Given the description of an element on the screen output the (x, y) to click on. 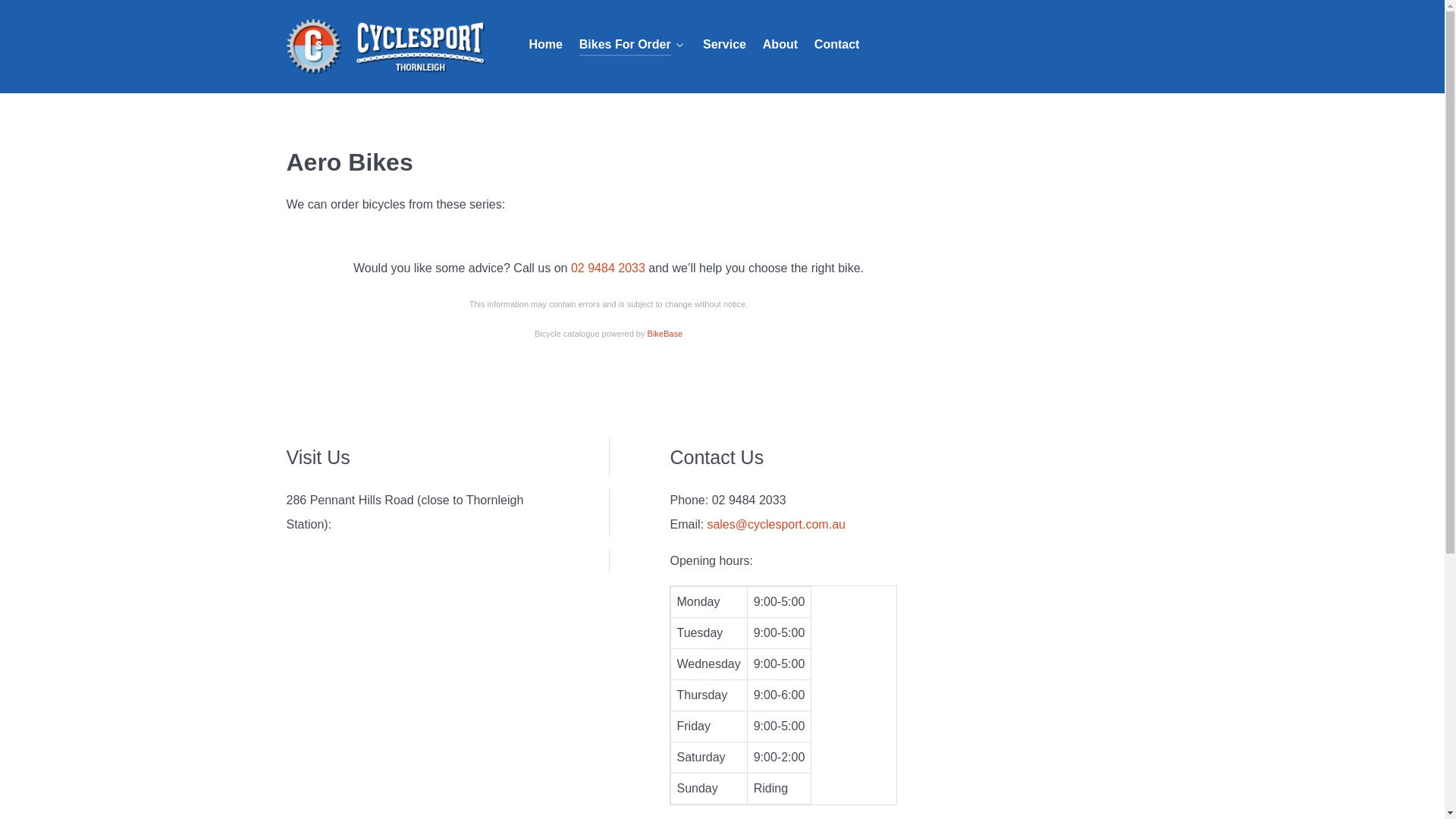
About Element type: text (779, 45)
BikeBase Element type: text (664, 333)
Service Element type: text (724, 45)
02 9484 2033 Element type: text (608, 267)
Bikes For Order Element type: text (632, 45)
Home Element type: text (545, 45)
Contact Element type: text (836, 45)
sales@cyclesport.com.au Element type: text (775, 523)
